Given the description of an element on the screen output the (x, y) to click on. 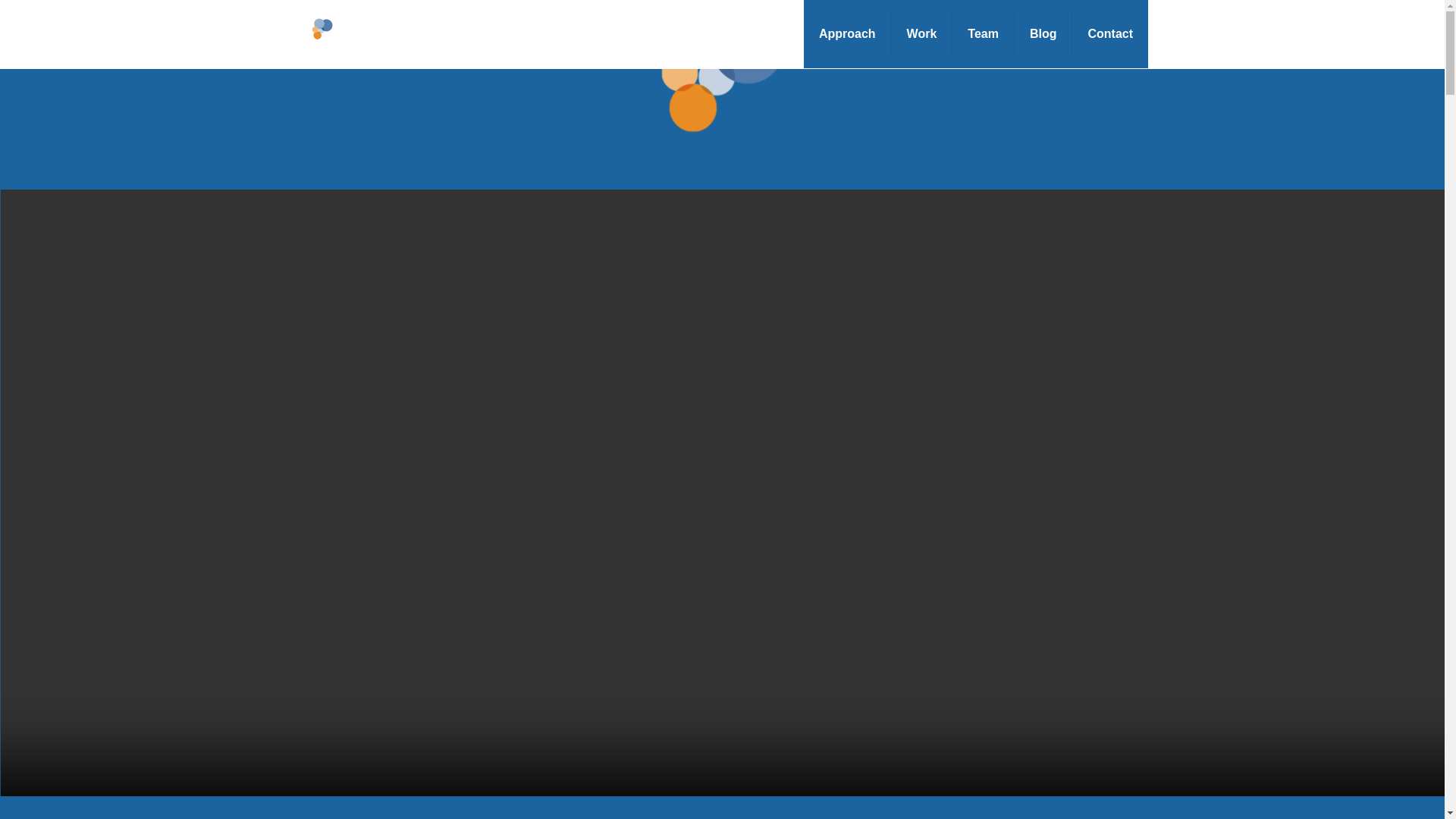
Team (983, 33)
Approach (847, 33)
Prophecy.bi (402, 33)
Work (922, 33)
Contact (1109, 33)
